Given the description of an element on the screen output the (x, y) to click on. 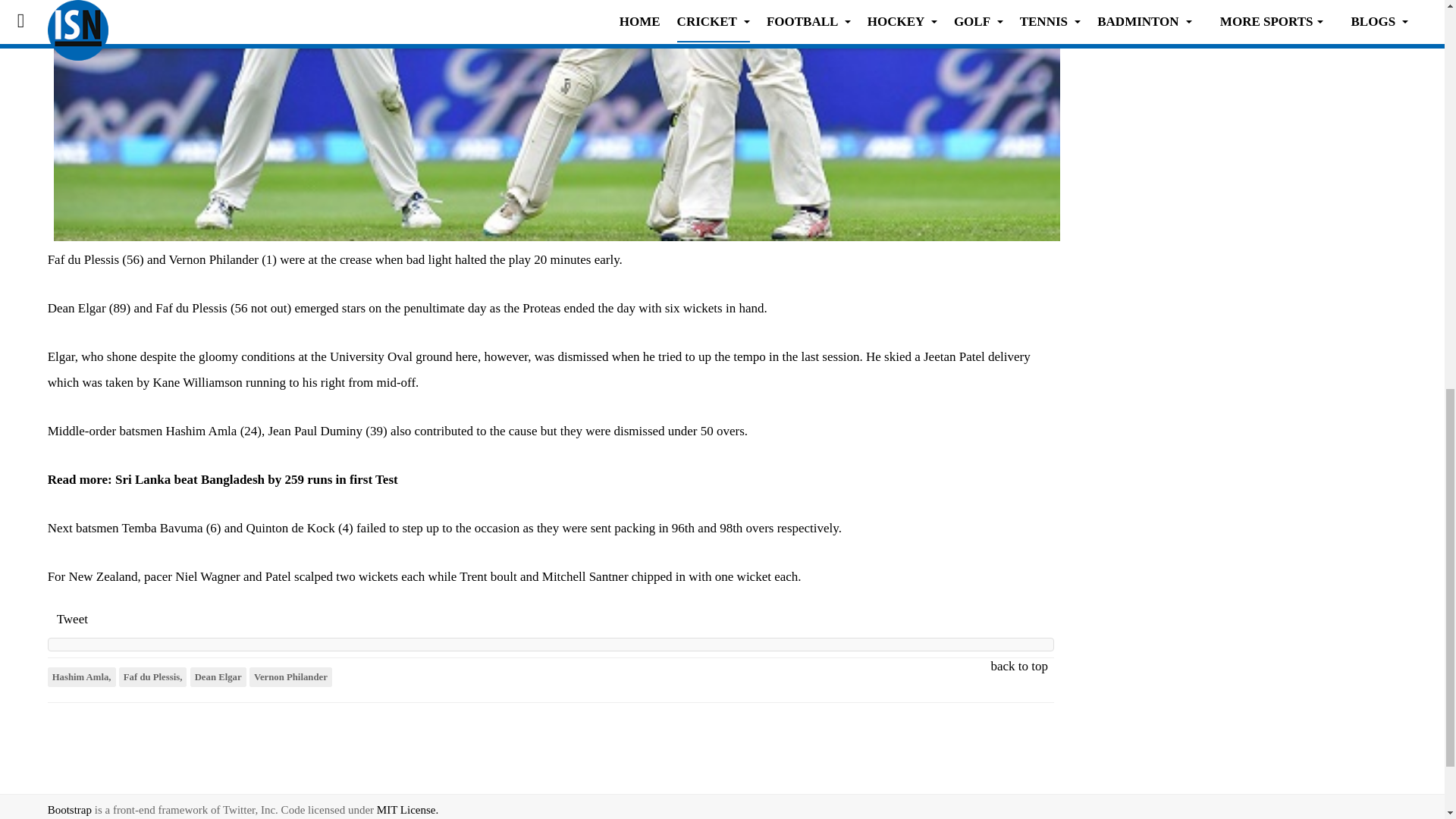
Bootstrap by Twitter (69, 809)
Back to Top (1411, 806)
MIT License (407, 809)
